Given the description of an element on the screen output the (x, y) to click on. 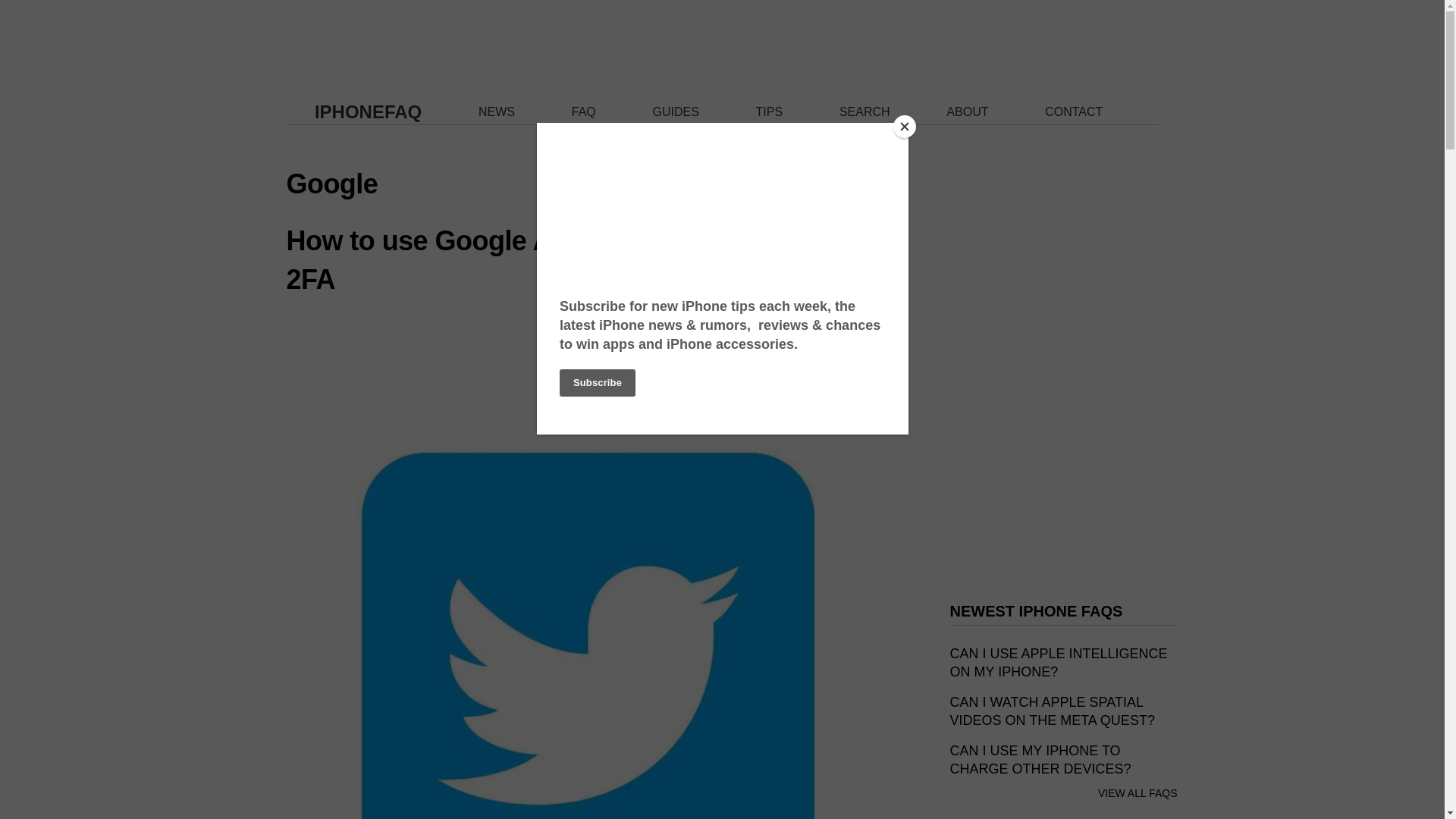
3rd party ad content (721, 33)
How to use Google Authenticator for Twitter 2FA (563, 259)
